Given the description of an element on the screen output the (x, y) to click on. 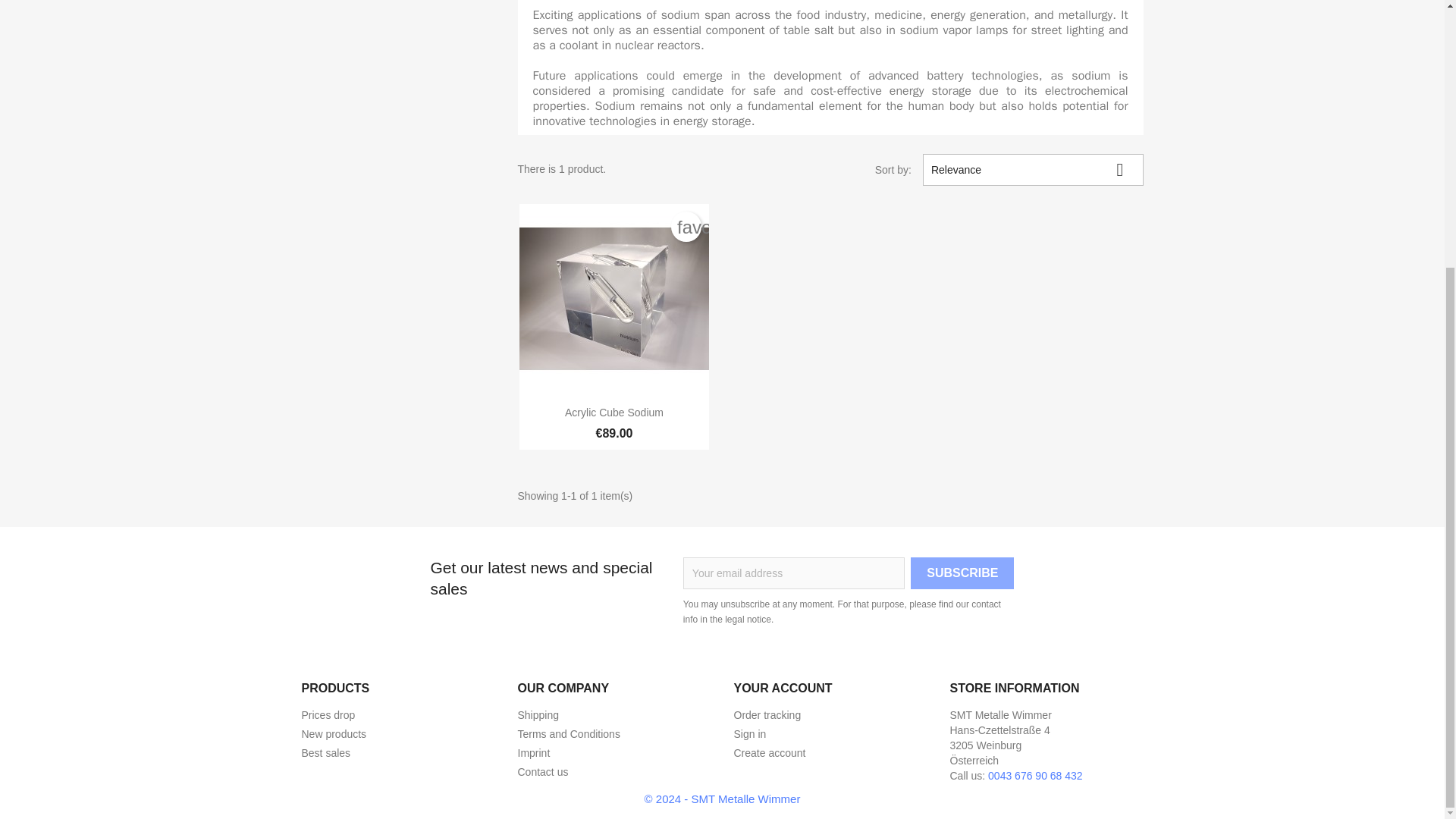
Best sales (325, 752)
Log in to your customer account (750, 734)
Use our form to contact us (541, 771)
Unsere AGB (568, 734)
Learn more about us (533, 752)
New products (333, 734)
Unsere Lieferbedingungen (537, 715)
Subscribe (962, 572)
Create account (769, 752)
Order tracking (767, 715)
Our special products (328, 715)
